Given the description of an element on the screen output the (x, y) to click on. 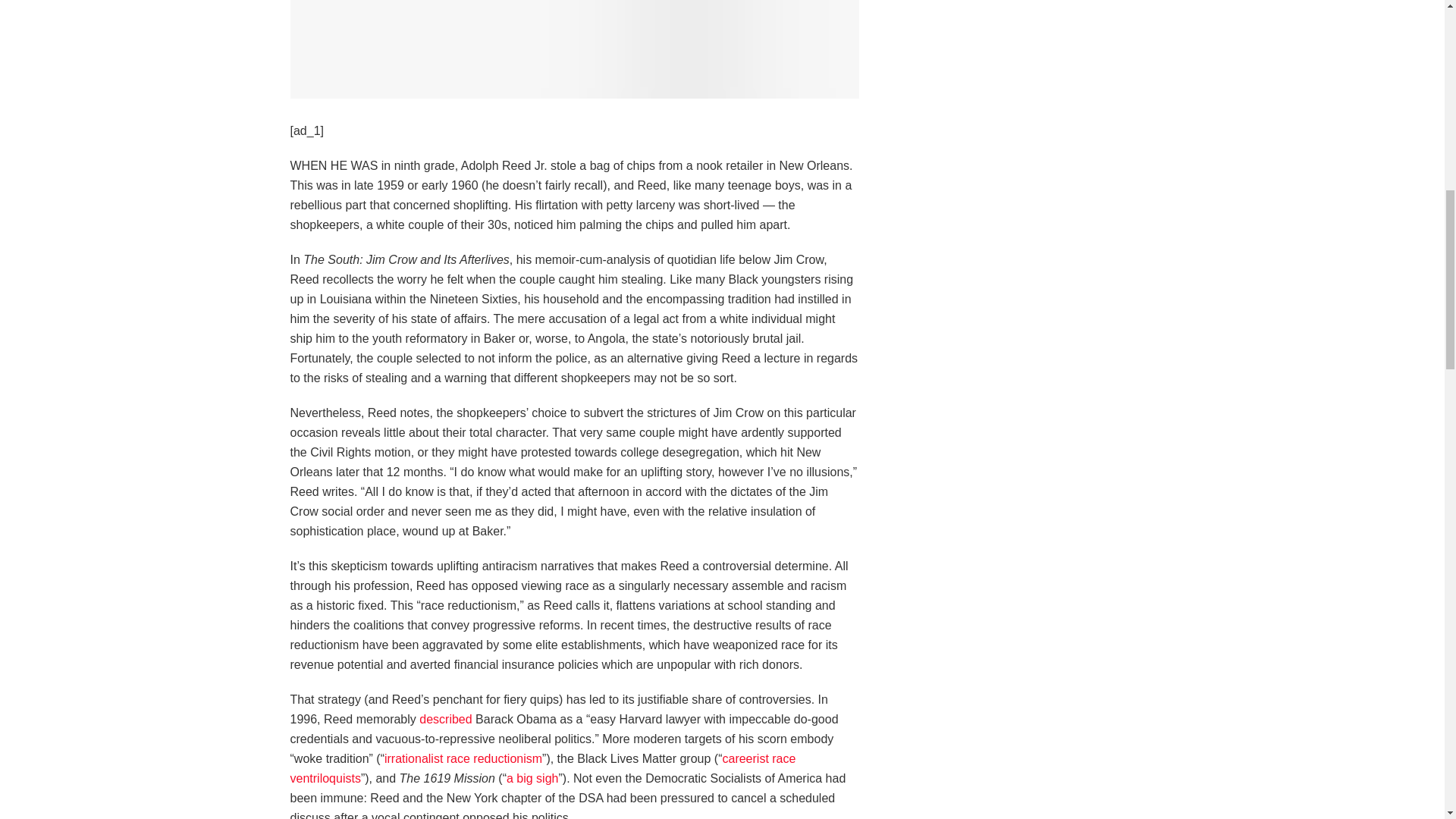
irrationalist race reductionism (462, 758)
described (445, 718)
a big sigh (532, 778)
careerist race ventriloquists (541, 768)
